Given the description of an element on the screen output the (x, y) to click on. 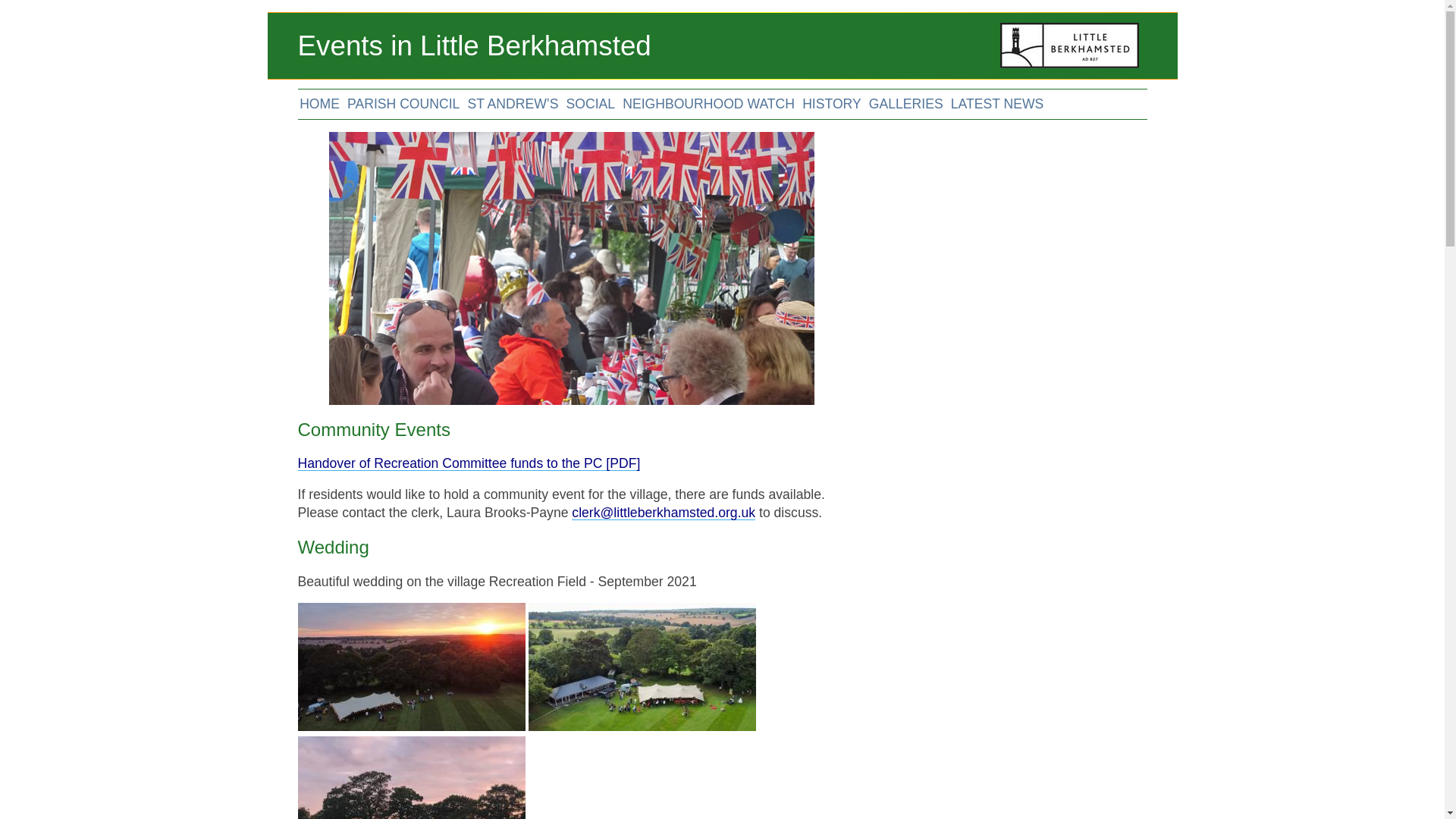
LATEST NEWS (996, 103)
Handover of Recreation Committee funds to the PC (468, 462)
NEIGHBOURHOOD WATCH (708, 103)
GALLERIES (906, 103)
HISTORY (831, 103)
HOME (319, 103)
